Given the description of an element on the screen output the (x, y) to click on. 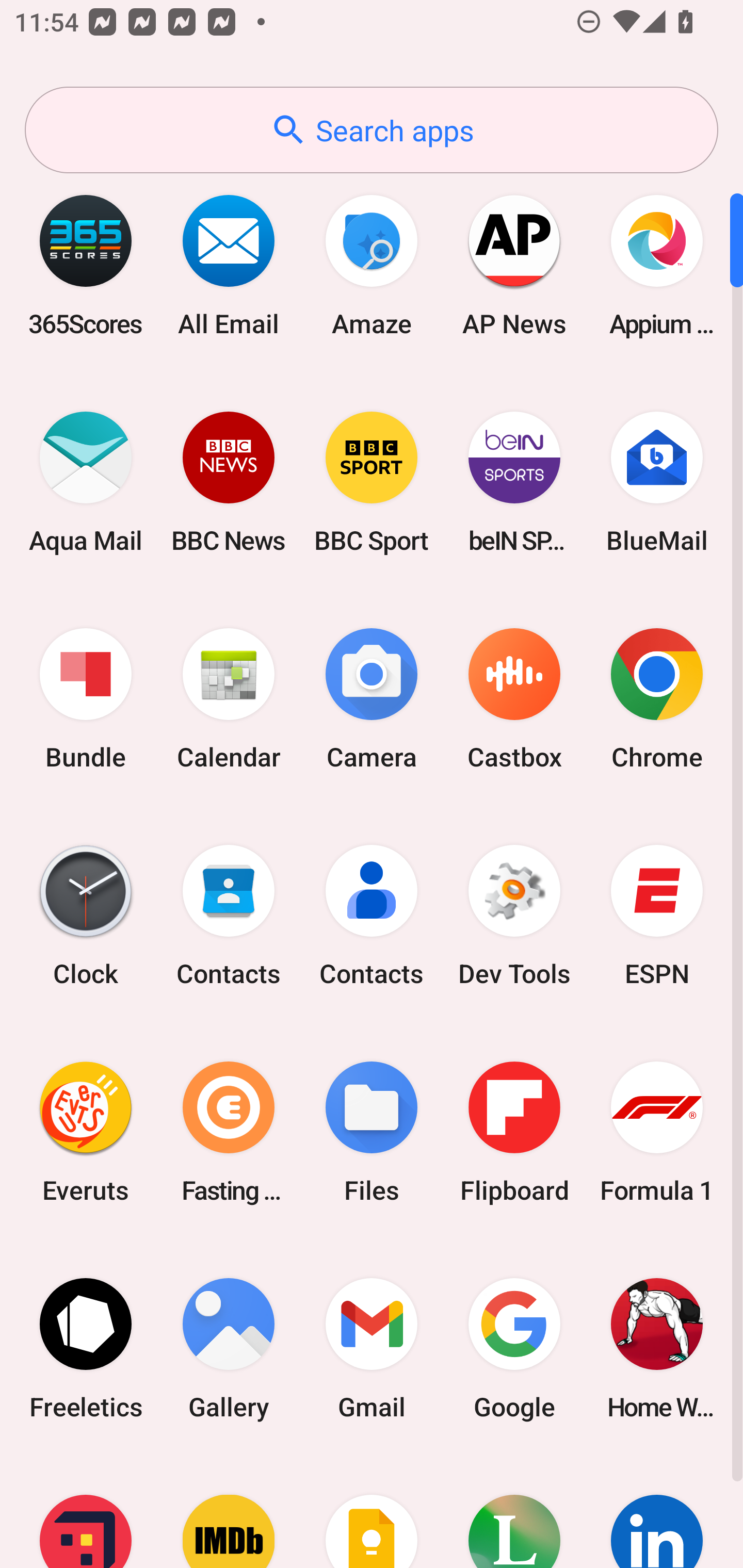
  Search apps (371, 130)
365Scores (85, 264)
All Email (228, 264)
Amaze (371, 264)
AP News (514, 264)
Appium Settings (656, 264)
Aqua Mail (85, 482)
BBC News (228, 482)
BBC Sport (371, 482)
beIN SPORTS (514, 482)
BlueMail (656, 482)
Bundle (85, 699)
Calendar (228, 699)
Camera (371, 699)
Castbox (514, 699)
Chrome (656, 699)
Clock (85, 915)
Contacts (228, 915)
Contacts (371, 915)
Dev Tools (514, 915)
ESPN (656, 915)
Everuts (85, 1131)
Fasting Coach (228, 1131)
Files (371, 1131)
Flipboard (514, 1131)
Formula 1 (656, 1131)
Freeletics (85, 1348)
Gallery (228, 1348)
Gmail (371, 1348)
Google (514, 1348)
Home Workout (656, 1348)
Hotels.com (85, 1512)
IMDb (228, 1512)
Keep Notes (371, 1512)
Lifesum (514, 1512)
LinkedIn (656, 1512)
